Given the description of an element on the screen output the (x, y) to click on. 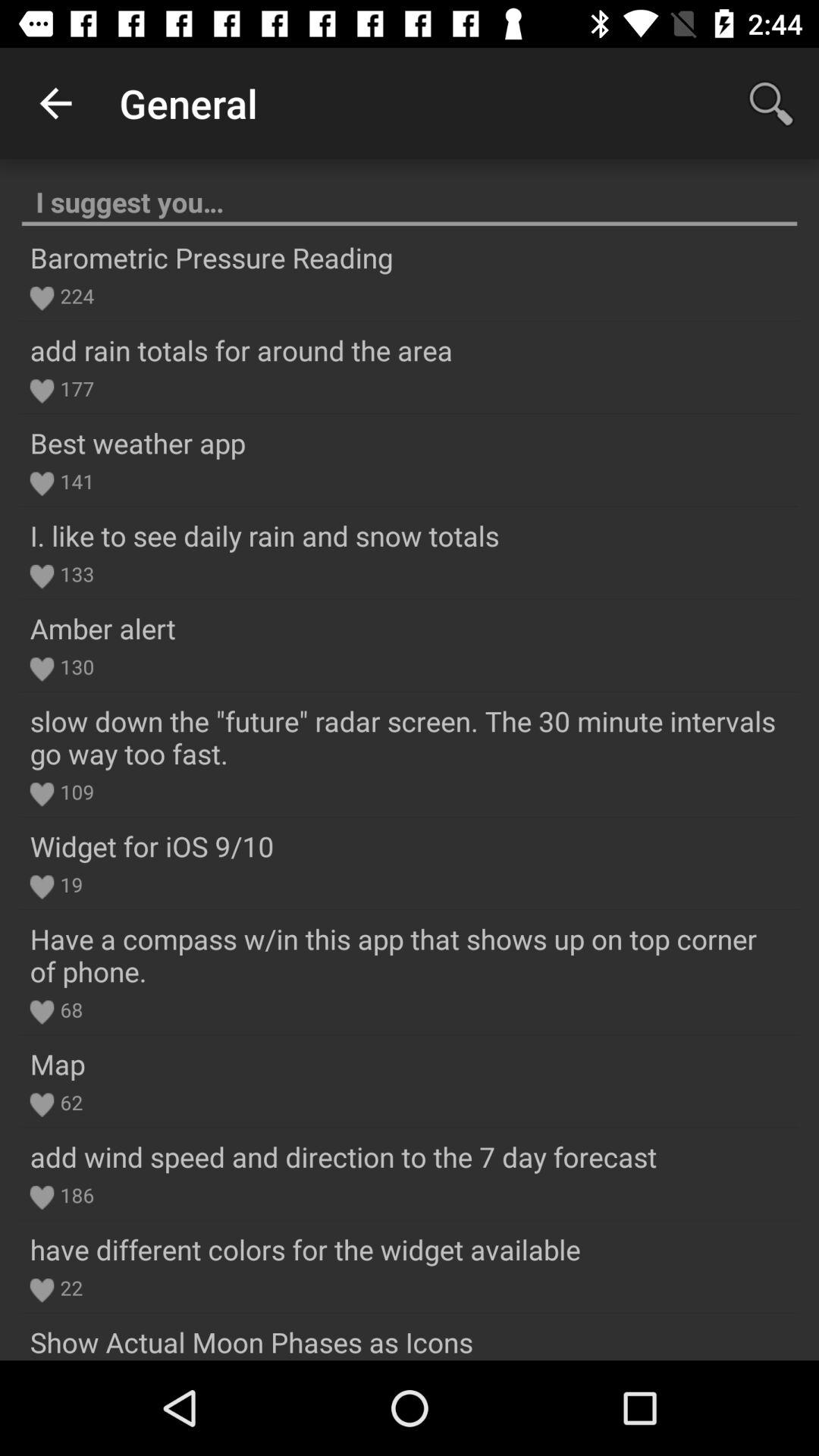
turn on item below add wind speed item (74, 1194)
